Given the description of an element on the screen output the (x, y) to click on. 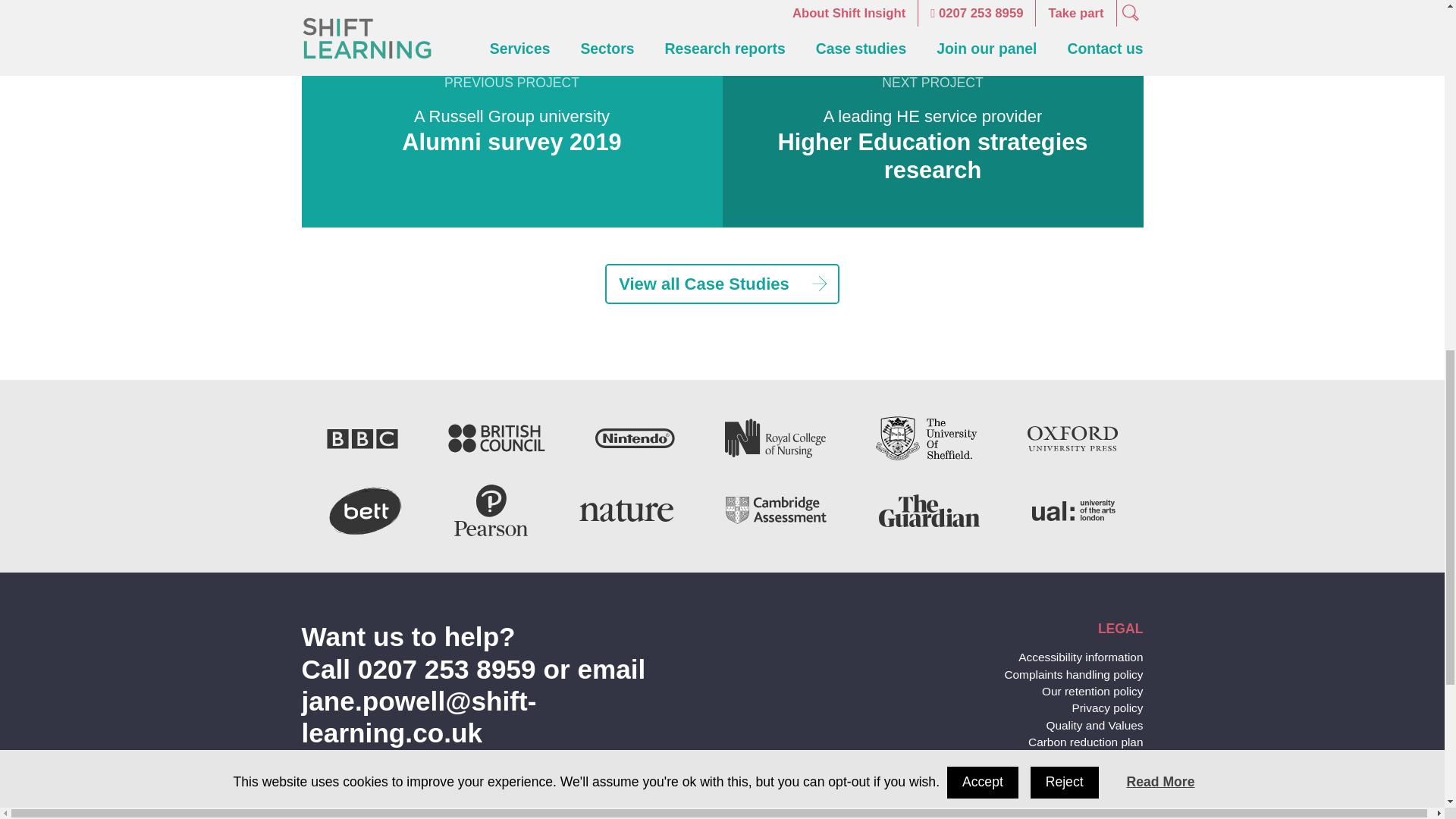
Our retention policy (1092, 690)
Higher Education strategies research (932, 155)
Carbon reduction plan (1084, 741)
Privacy policy (1106, 707)
Quality and Values (1093, 725)
Complaints handling policy (1073, 674)
Alumni survey 2019 (511, 141)
View all Case Studies (722, 283)
0207 253 8959 (446, 668)
Join our panel (1086, 790)
